Given the description of an element on the screen output the (x, y) to click on. 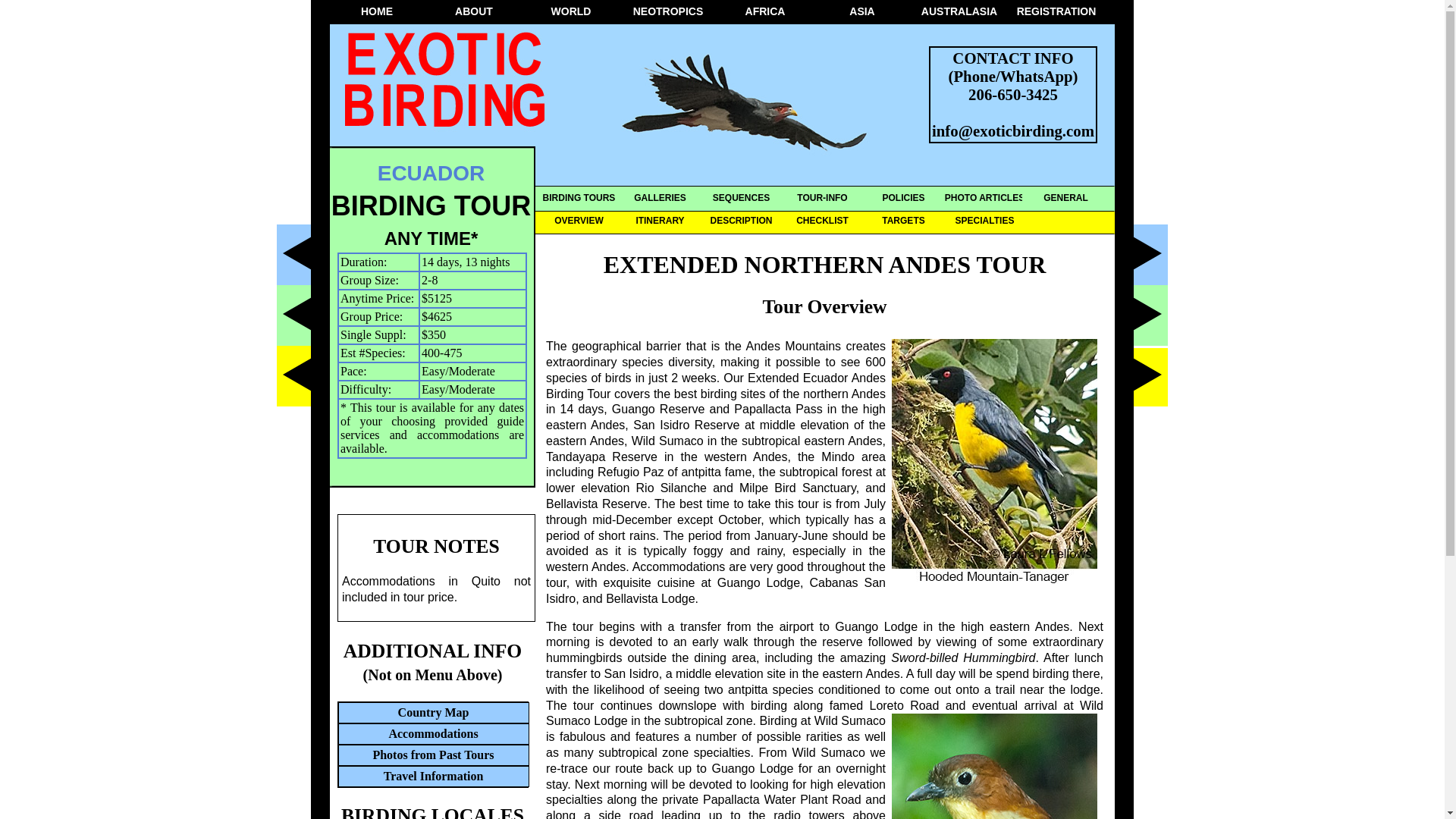
ABOUT (472, 12)
BIRDING TOURS (577, 198)
About Ecuador Birding (430, 173)
AUSTRALASIA (957, 12)
GALLERIES (657, 198)
AFRICA (763, 12)
NEOTROPICS (666, 12)
REGISTRATION (1054, 12)
ASIA (860, 12)
HOME (375, 12)
WORLD (569, 12)
